Given the description of an element on the screen output the (x, y) to click on. 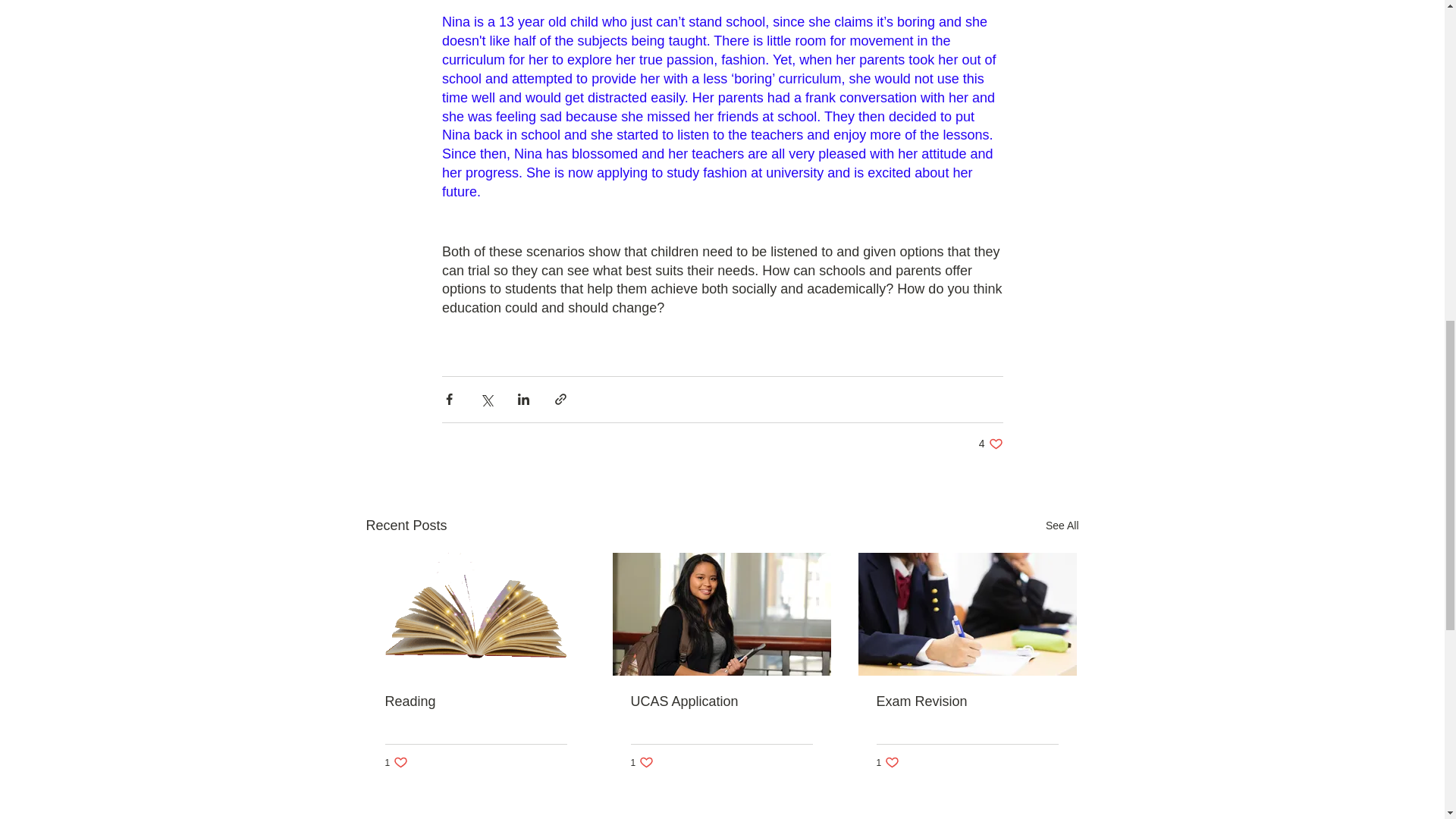
Reading (397, 762)
Exam Revision (641, 762)
See All (476, 701)
UCAS Application (967, 701)
